Given the description of an element on the screen output the (x, y) to click on. 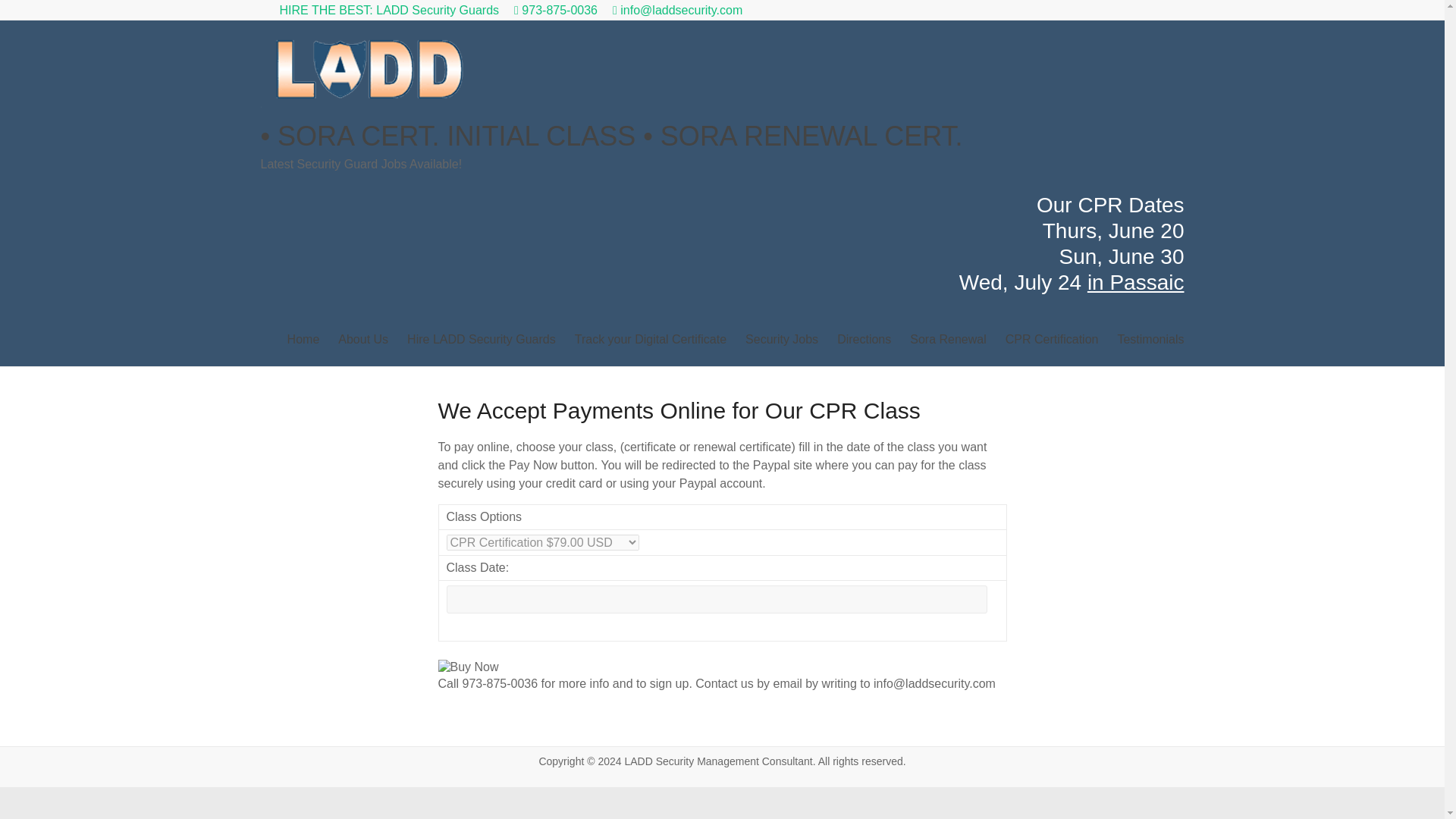
in Passaic (1136, 282)
HIRE THE BEST: LADD Security Guards (389, 10)
Directions (864, 339)
About Us (362, 339)
Track your Digital Certificate (650, 339)
973-875-0036 (554, 10)
CPR Certification (1052, 339)
Security Jobs (781, 339)
Testimonials (1149, 339)
Hire LADD Security Guards (481, 339)
PayPal - The safer, easier way to pay online! (468, 667)
Sora Renewal (948, 339)
Home (303, 339)
